Given the description of an element on the screen output the (x, y) to click on. 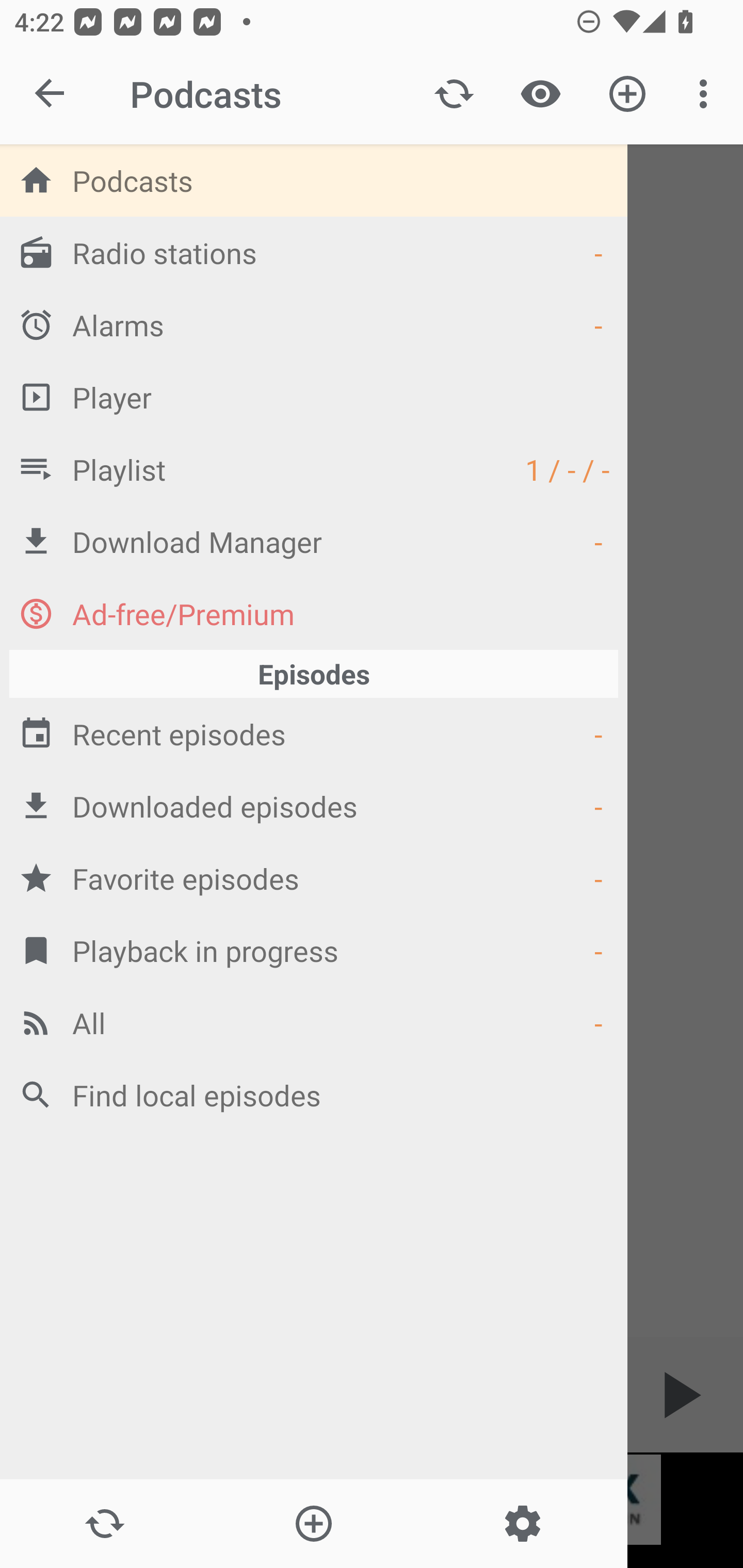
Close navigation sidebar (50, 93)
Update (453, 93)
Show / Hide played content (540, 93)
Add new Podcast (626, 93)
More options (706, 93)
Podcasts (313, 180)
Radio stations  -  (313, 252)
Alarms  -  (313, 324)
Player (313, 396)
Playlist 1 / - / - (313, 468)
Download Manager  -  (313, 540)
Ad-free/Premium (313, 613)
Recent episodes  -  (313, 733)
Downloaded episodes  -  (313, 805)
Favorite episodes  -  (313, 878)
Playback in progress  -  (313, 950)
All  -  (313, 1022)
Find local episodes (313, 1094)
Update (104, 1523)
Add new Podcast (312, 1523)
Settings (522, 1523)
